Given the description of an element on the screen output the (x, y) to click on. 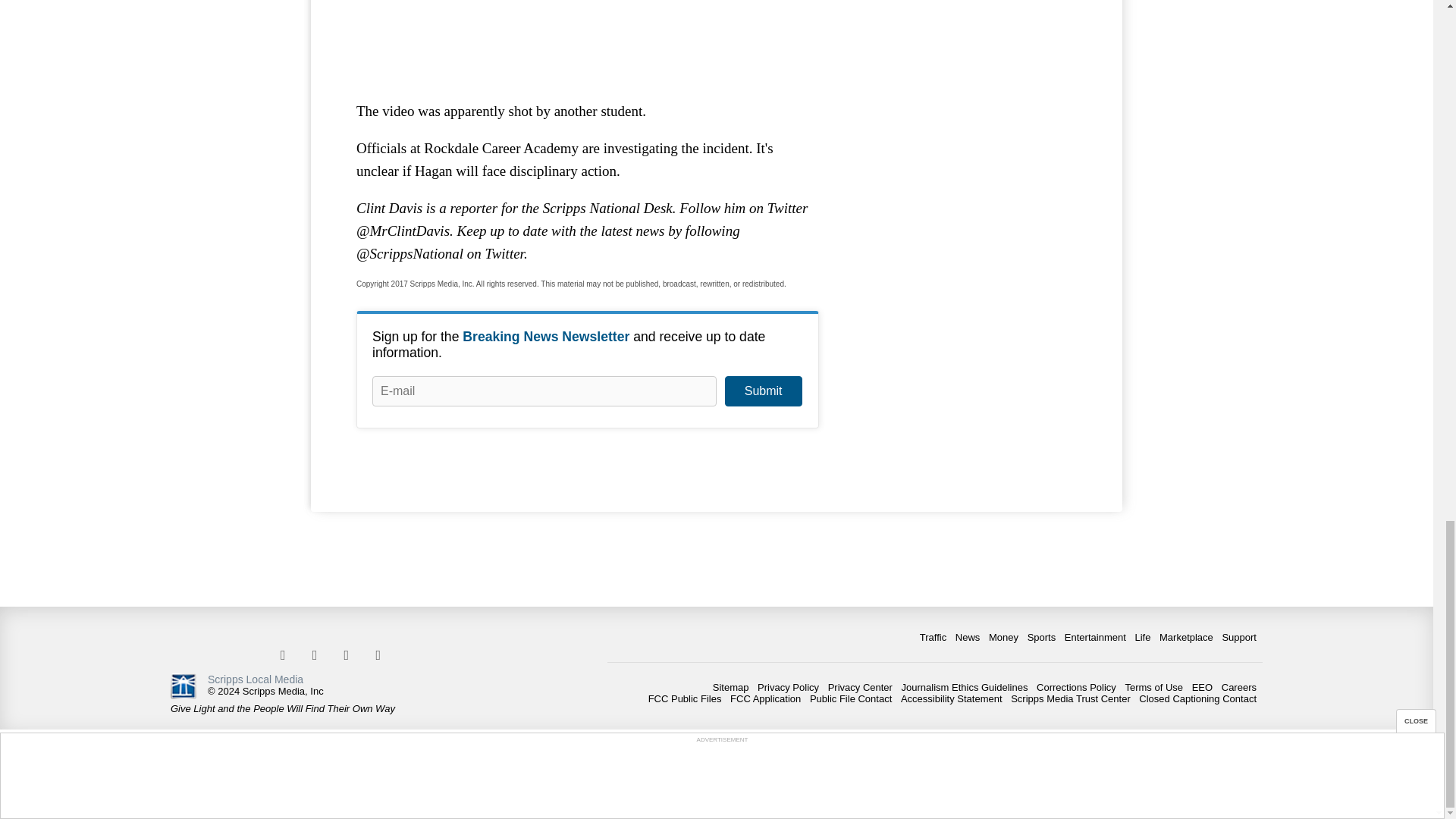
Submit (763, 390)
